Given the description of an element on the screen output the (x, y) to click on. 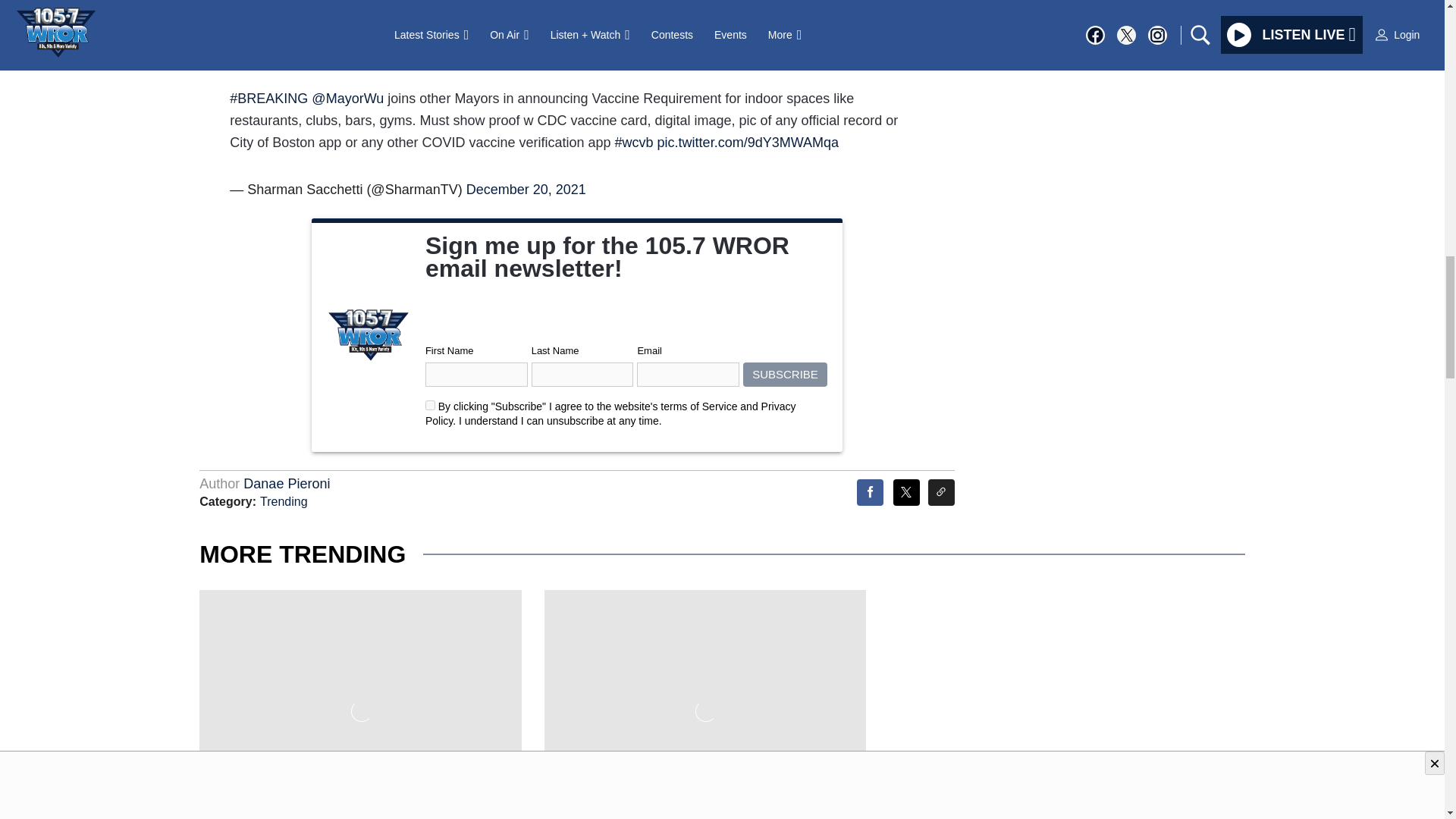
on (430, 405)
Danae Pieroni (286, 483)
